Given the description of an element on the screen output the (x, y) to click on. 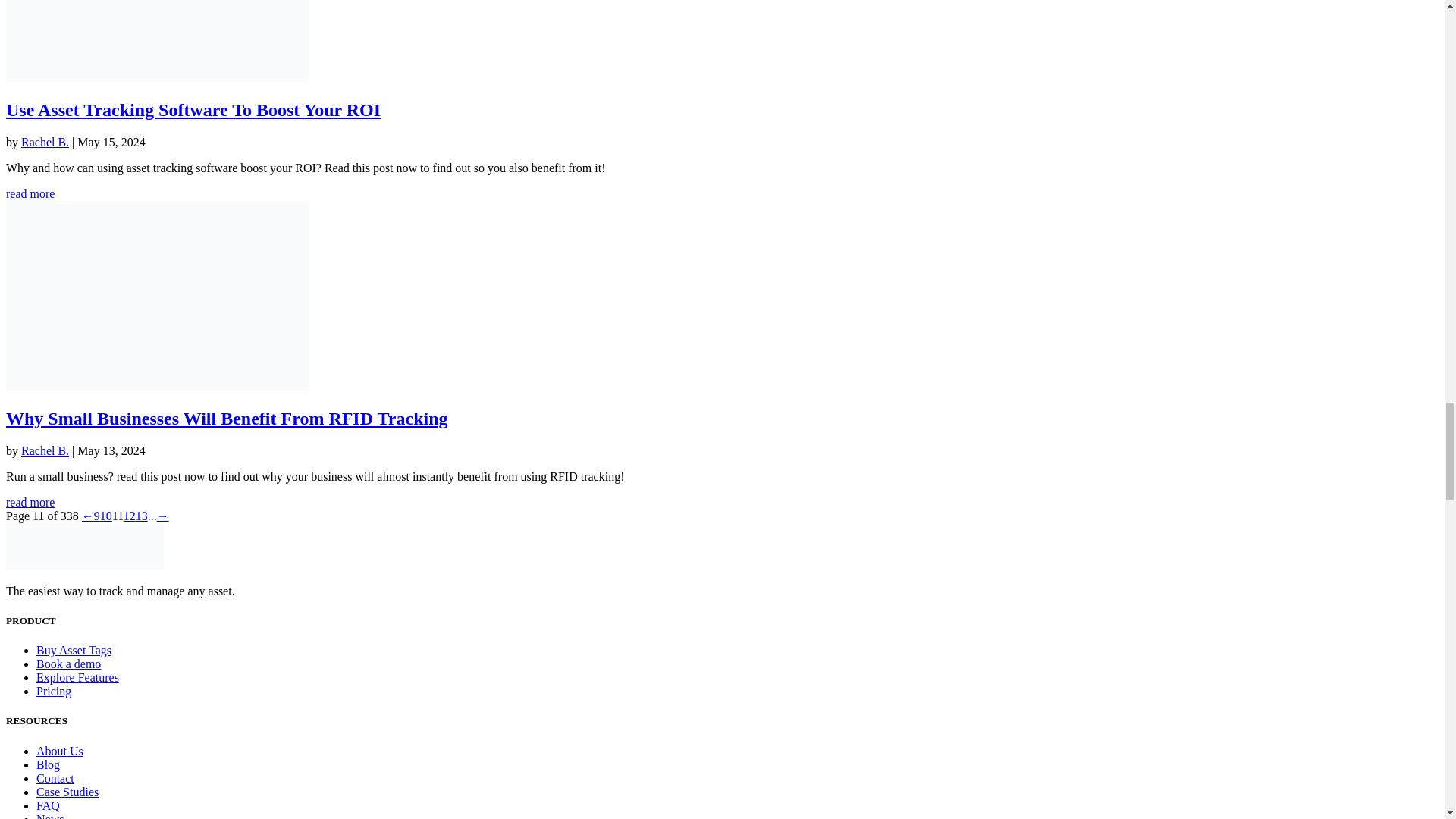
Page 12 (129, 515)
Page 10 (106, 515)
Posts by Rachel B. (44, 141)
itemit-logo-alt (84, 546)
Posts by Rachel B. (44, 450)
Page 9 (97, 515)
Page 13 (141, 515)
